Given the description of an element on the screen output the (x, y) to click on. 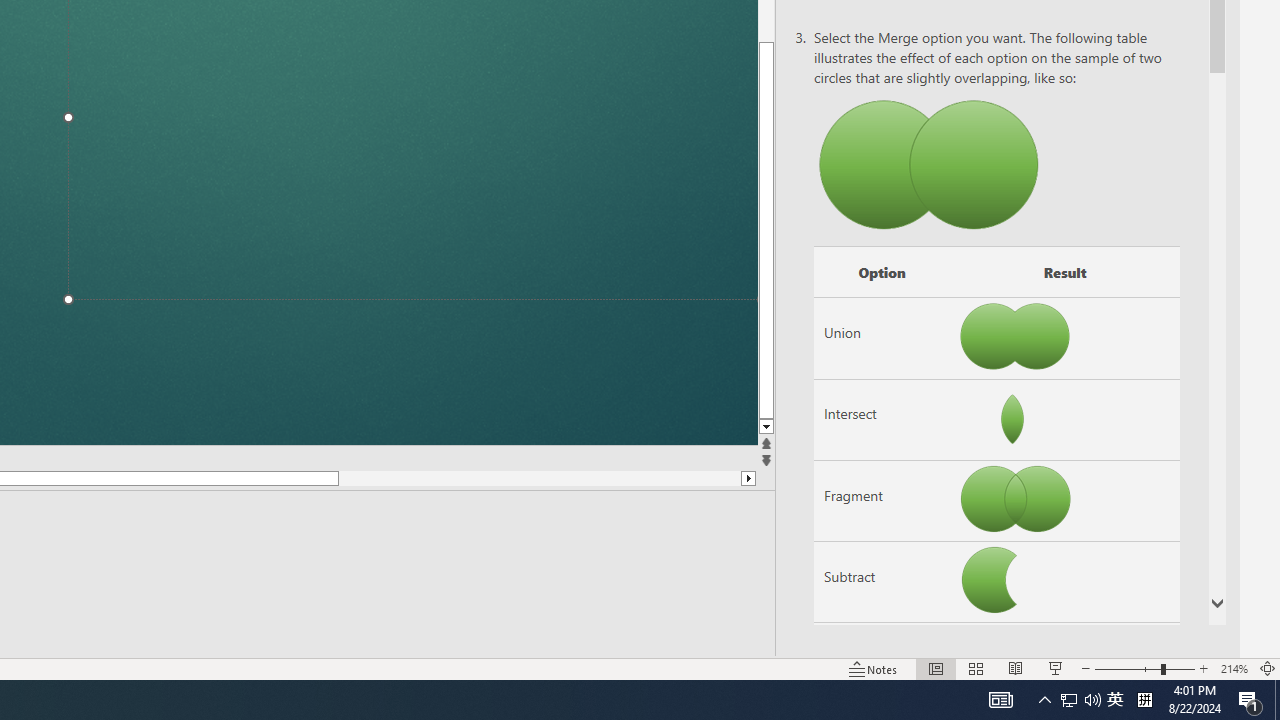
Subtract (881, 582)
User Promoted Notification Area (1115, 699)
Tray Input Indicator - Chinese (Simplified, China) (1080, 699)
Zoom 214% (1144, 699)
Fragment (1234, 668)
Line down (881, 501)
Notification Chevron (911, 427)
